Given the description of an element on the screen output the (x, y) to click on. 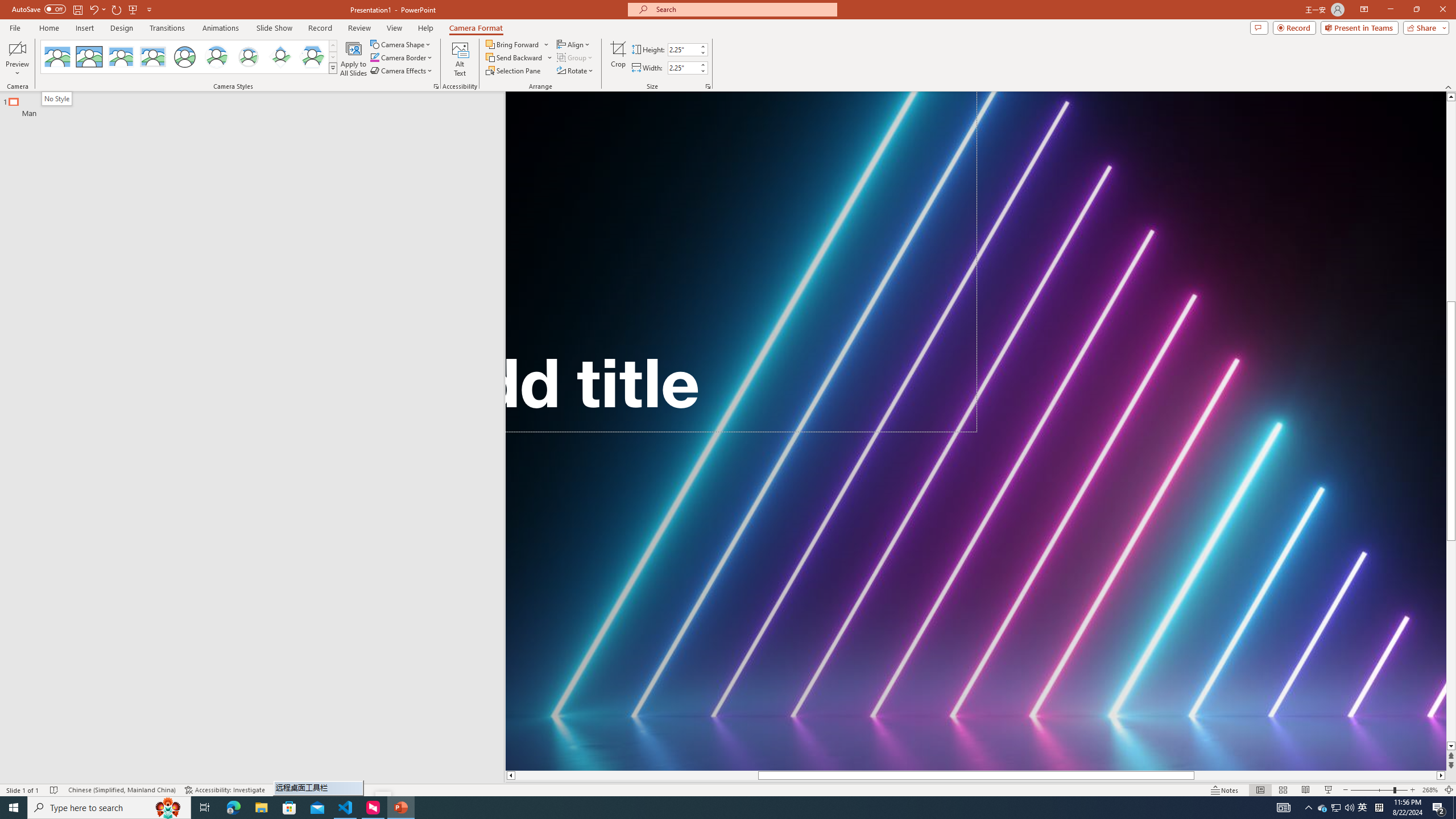
Preview (17, 58)
Format Object... (435, 85)
Selection Pane... (513, 69)
AutomationID: CameoStylesGallery (189, 56)
No Style (57, 56)
Send Backward (514, 56)
